Given the description of an element on the screen output the (x, y) to click on. 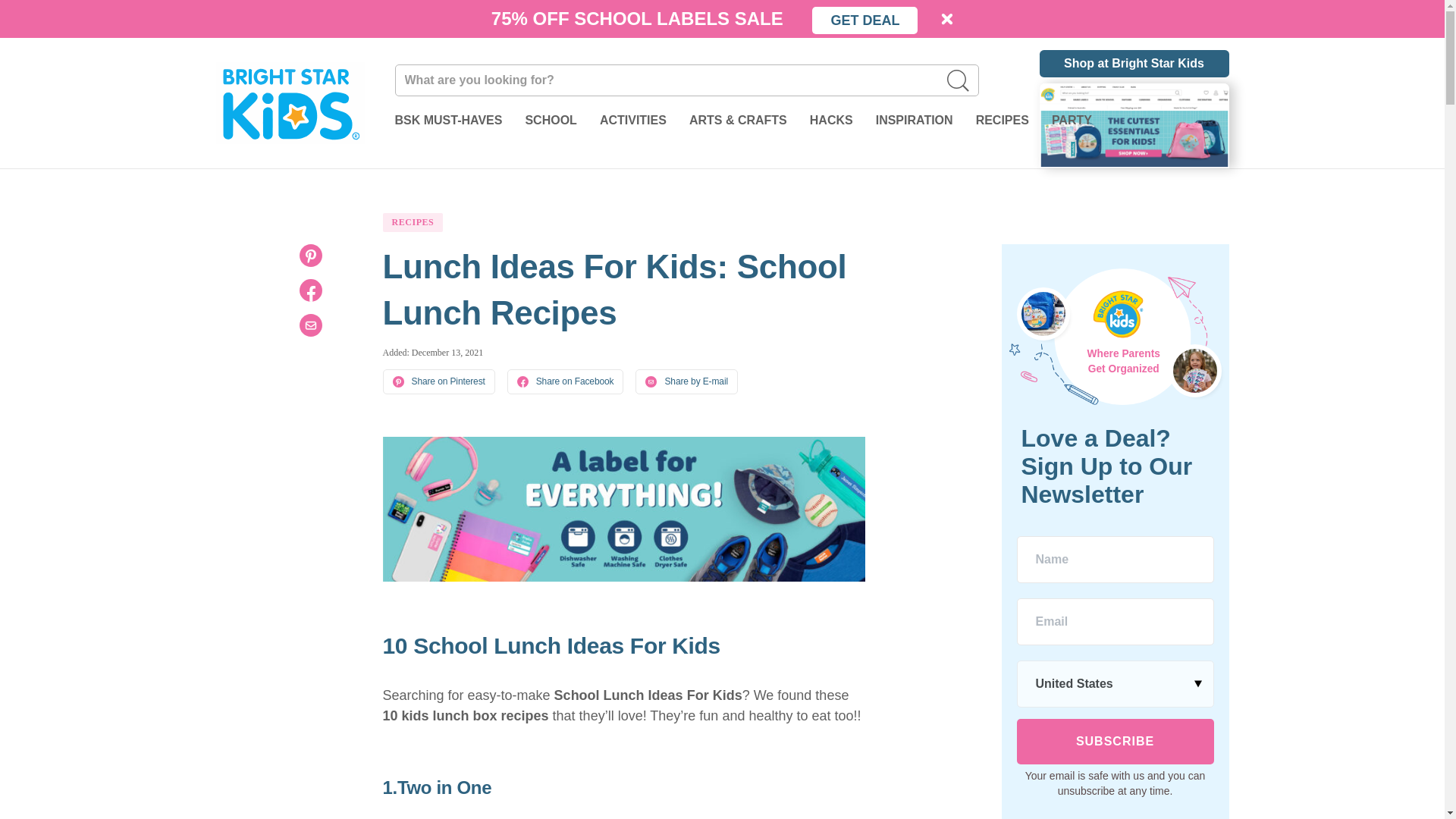
RECIPES (411, 221)
Share on Facebook (565, 381)
BSK MUST-HAVES (448, 125)
ACTIVITIES (632, 125)
GET DEAL (864, 20)
HACKS (831, 125)
Shop at Bright Star Kids (1133, 62)
SCHOOL (550, 125)
RECIPES (1002, 125)
Share on Pinterest (438, 381)
Shop at Bright Star Kids (1133, 102)
PARTY (1071, 125)
INSPIRATION (914, 125)
Share by E-mail (686, 381)
